Given the description of an element on the screen output the (x, y) to click on. 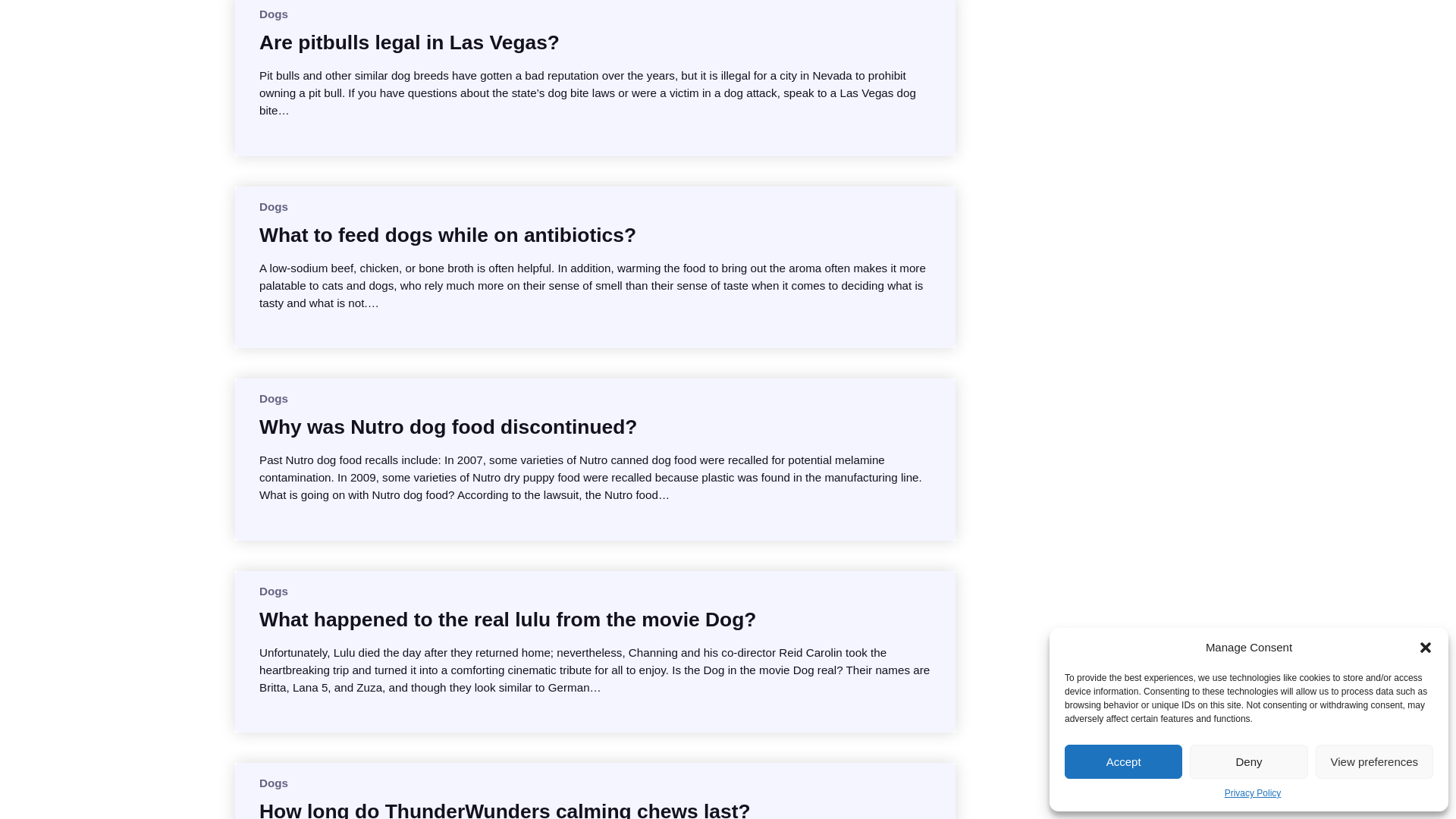
Dogs (273, 13)
